Given the description of an element on the screen output the (x, y) to click on. 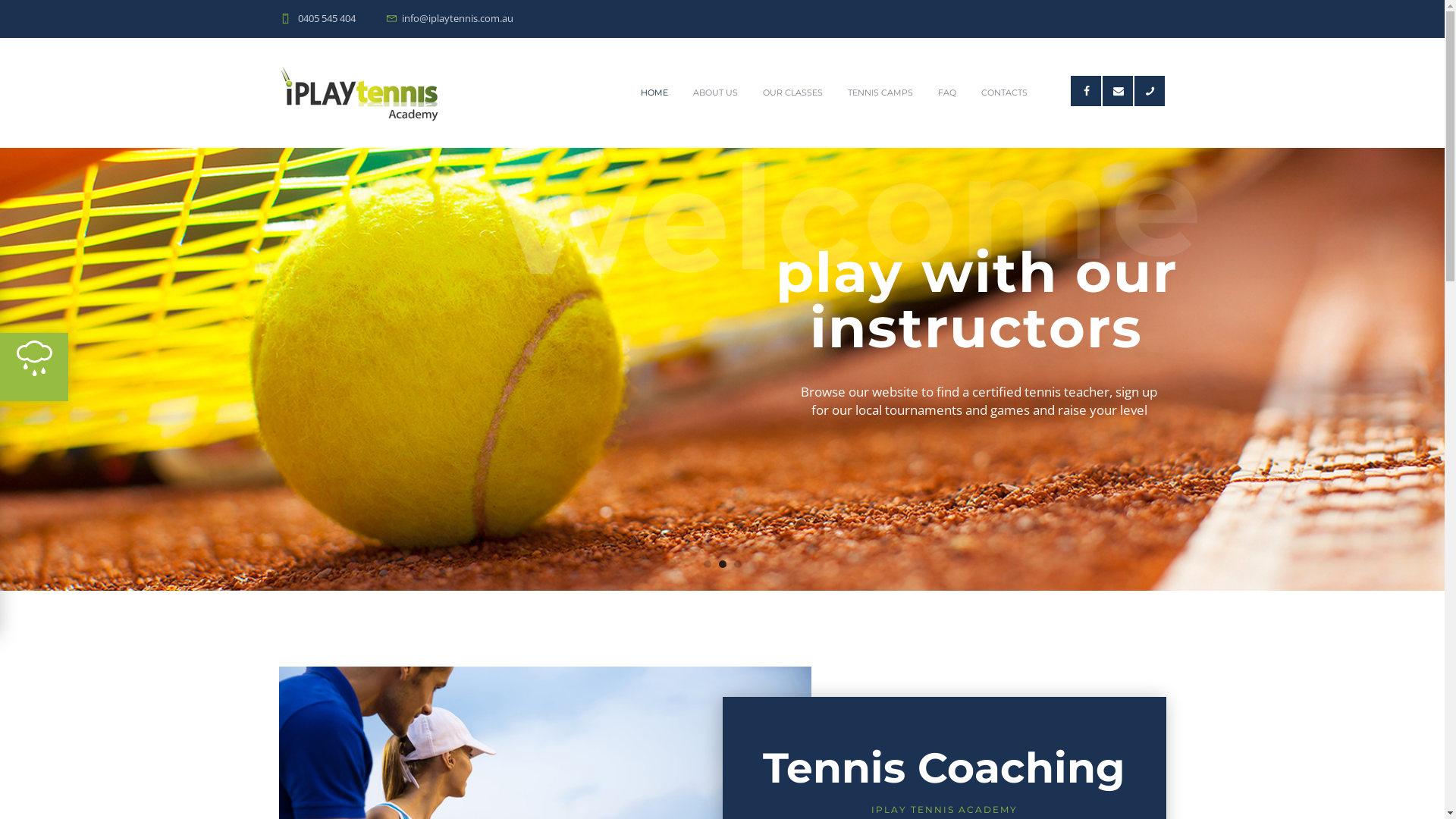
TENNIS CAMPS Element type: text (880, 92)
OUR CLASSES Element type: text (792, 92)
ABOUT US Element type: text (715, 92)
FAQ Element type: text (947, 92)
HOME Element type: text (654, 92)
CONTACTS Element type: text (1004, 92)
